Given the description of an element on the screen output the (x, y) to click on. 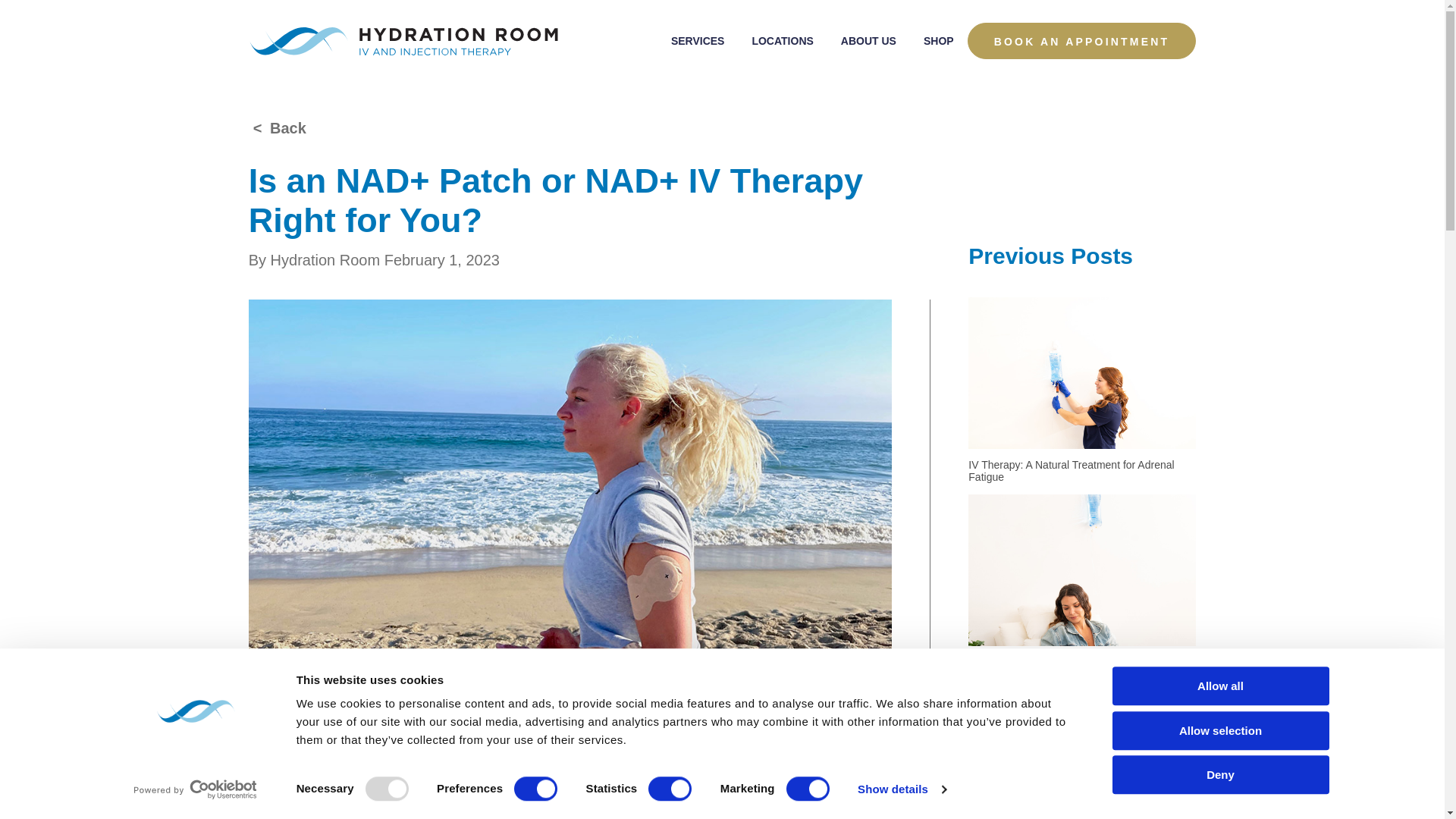
Show details (900, 789)
